Given the description of an element on the screen output the (x, y) to click on. 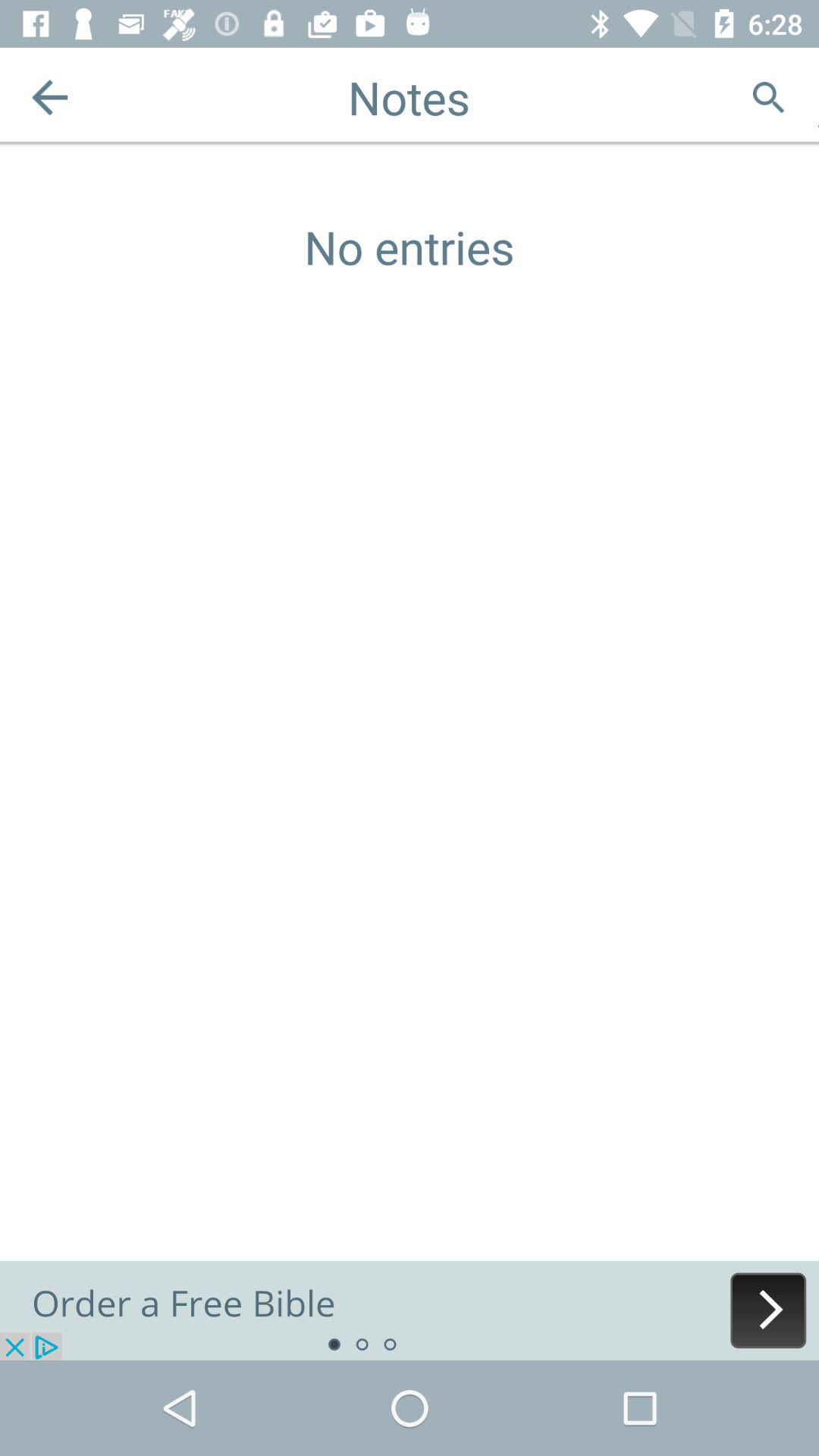
search tool (768, 97)
